Given the description of an element on the screen output the (x, y) to click on. 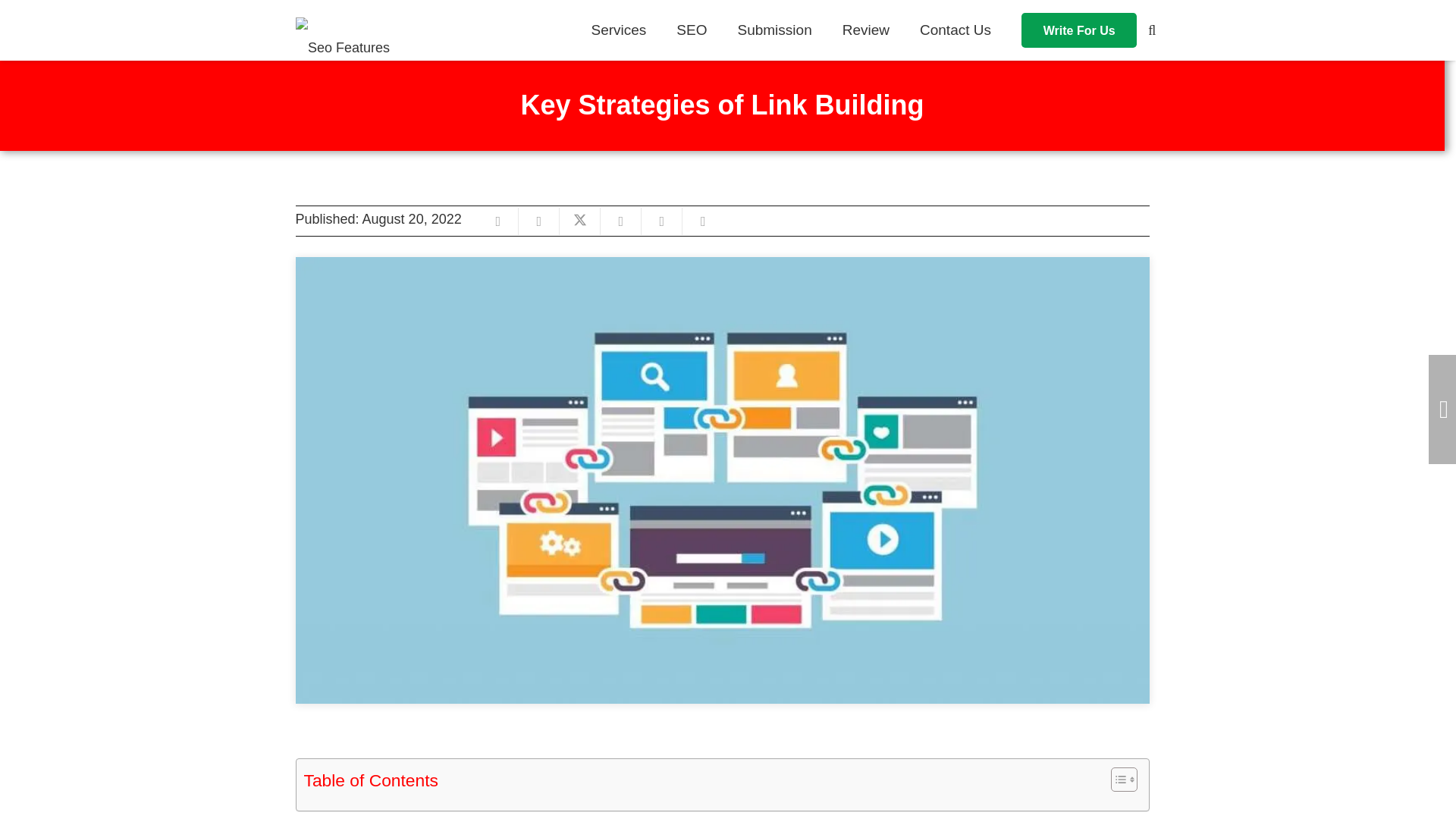
Tweet this (579, 221)
Write For Us (1079, 30)
SEO (691, 30)
Share this (702, 221)
Contact Us (955, 30)
Submission (774, 30)
Seo Features - Seo Features (342, 46)
Share this (538, 221)
Email this (497, 221)
Share this (620, 221)
